Given the description of an element on the screen output the (x, y) to click on. 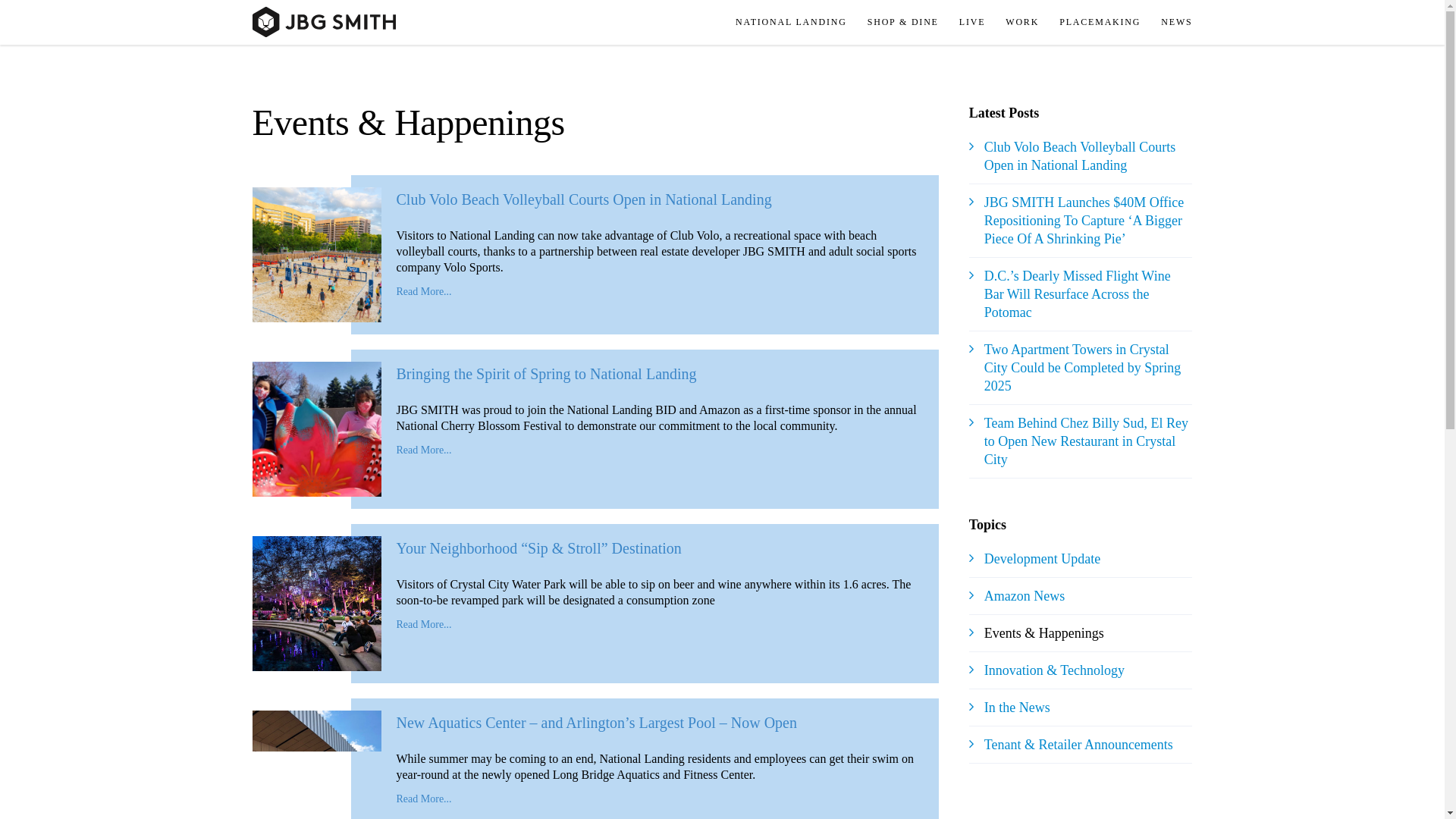
Sustainability (1121, 58)
WORK (1029, 22)
Bringing the Spirit of Spring to National Landing (545, 373)
Digital Infrastructure (1121, 58)
Development Update (1042, 558)
Read More... (423, 449)
NEWS (1181, 22)
Read More... (423, 291)
PLACEMAKING (1107, 22)
Club Volo Beach Volleyball Courts Open in National Landing (583, 199)
NATIONAL LANDING (803, 22)
Read More... (423, 798)
Read More... (423, 624)
Amazon News (1024, 595)
